Given the description of an element on the screen output the (x, y) to click on. 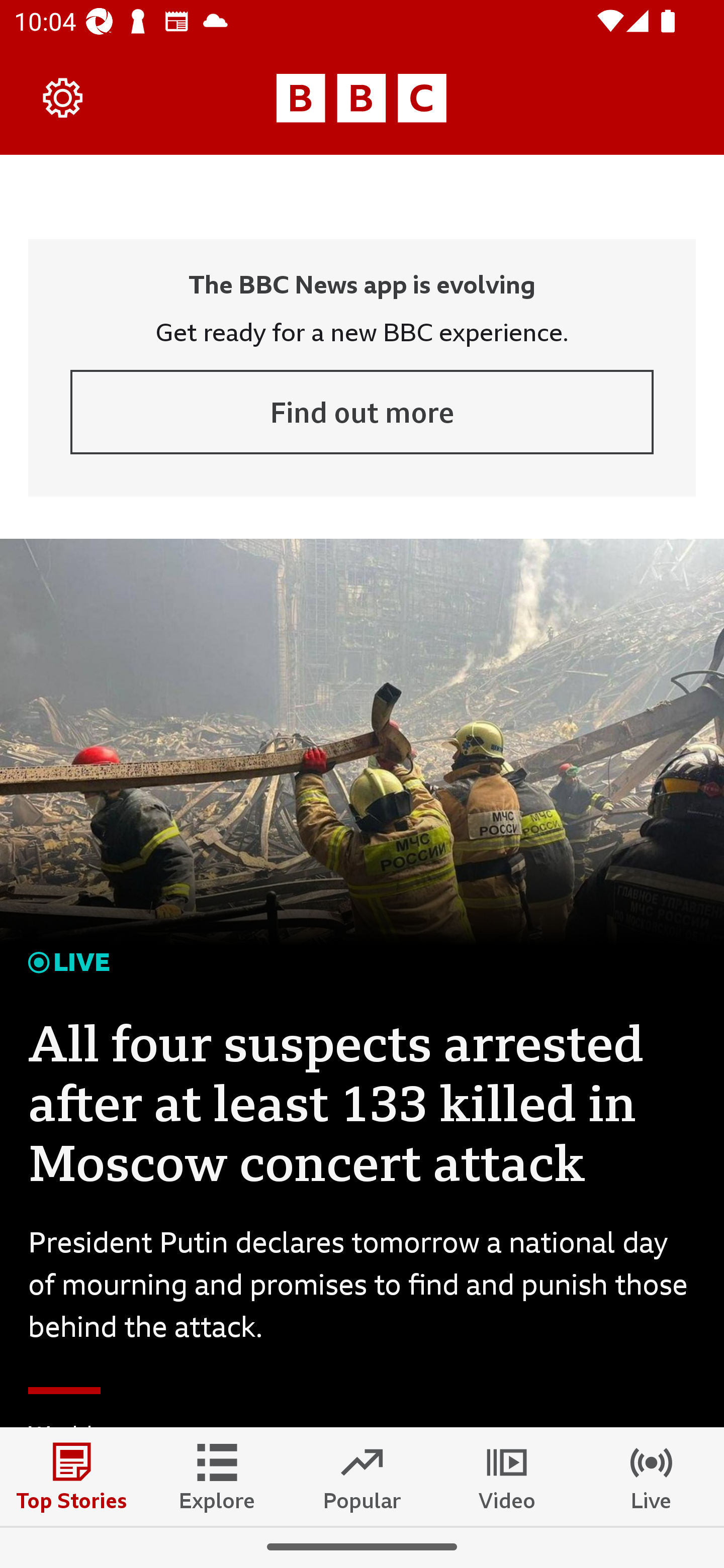
Settings (63, 97)
Find out more (361, 412)
Explore (216, 1475)
Popular (361, 1475)
Video (506, 1475)
Live (651, 1475)
